Given the description of an element on the screen output the (x, y) to click on. 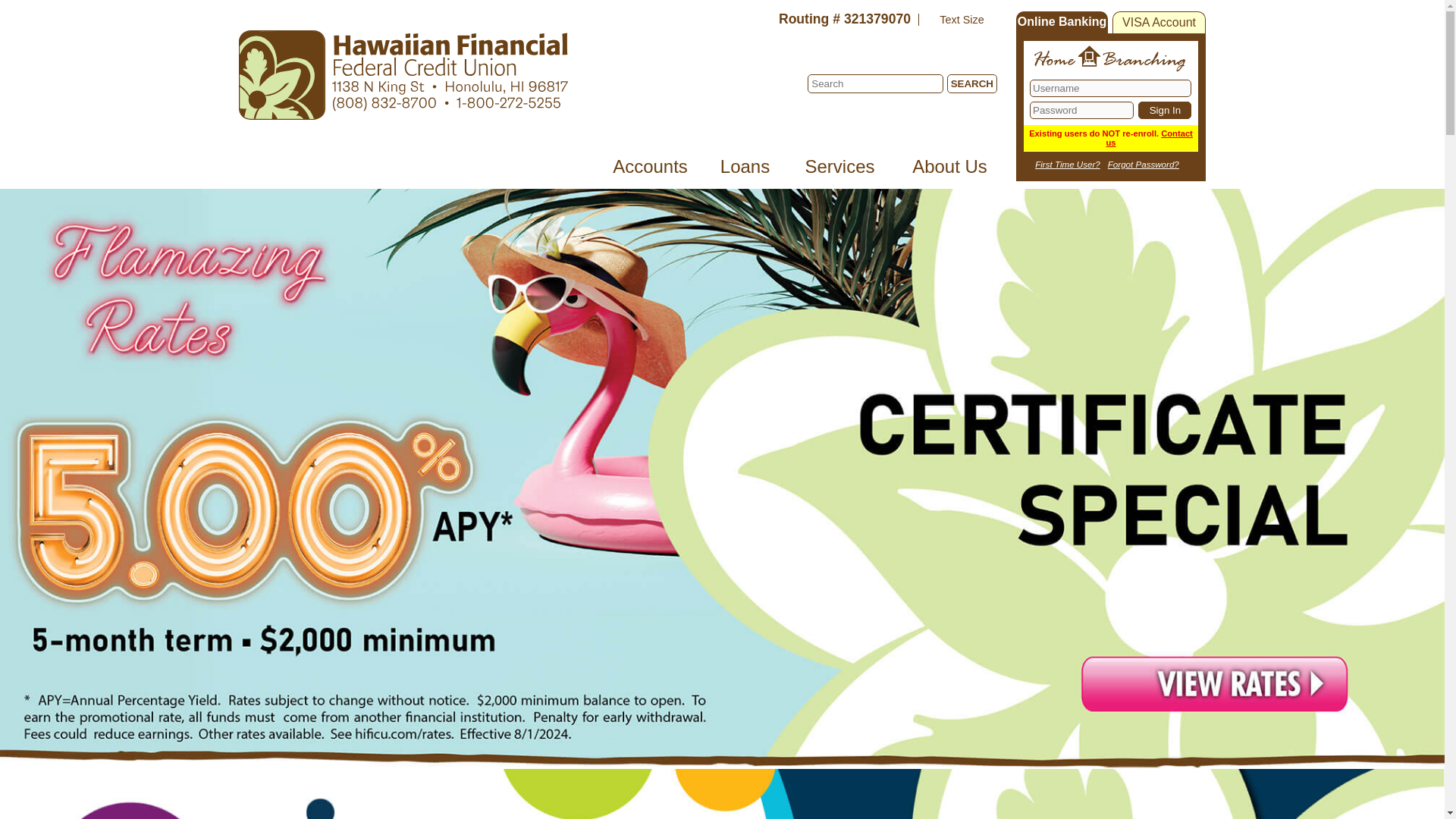
VISA Account (1158, 22)
hffcu-logo (402, 74)
Contact us (1148, 137)
Sign In (1164, 109)
Search input (875, 83)
First Time User? (1067, 163)
Loans (744, 172)
Sign In (1164, 109)
SEARCH (972, 83)
Forgot Password? (1143, 163)
Accounts (649, 172)
